Given the description of an element on the screen output the (x, y) to click on. 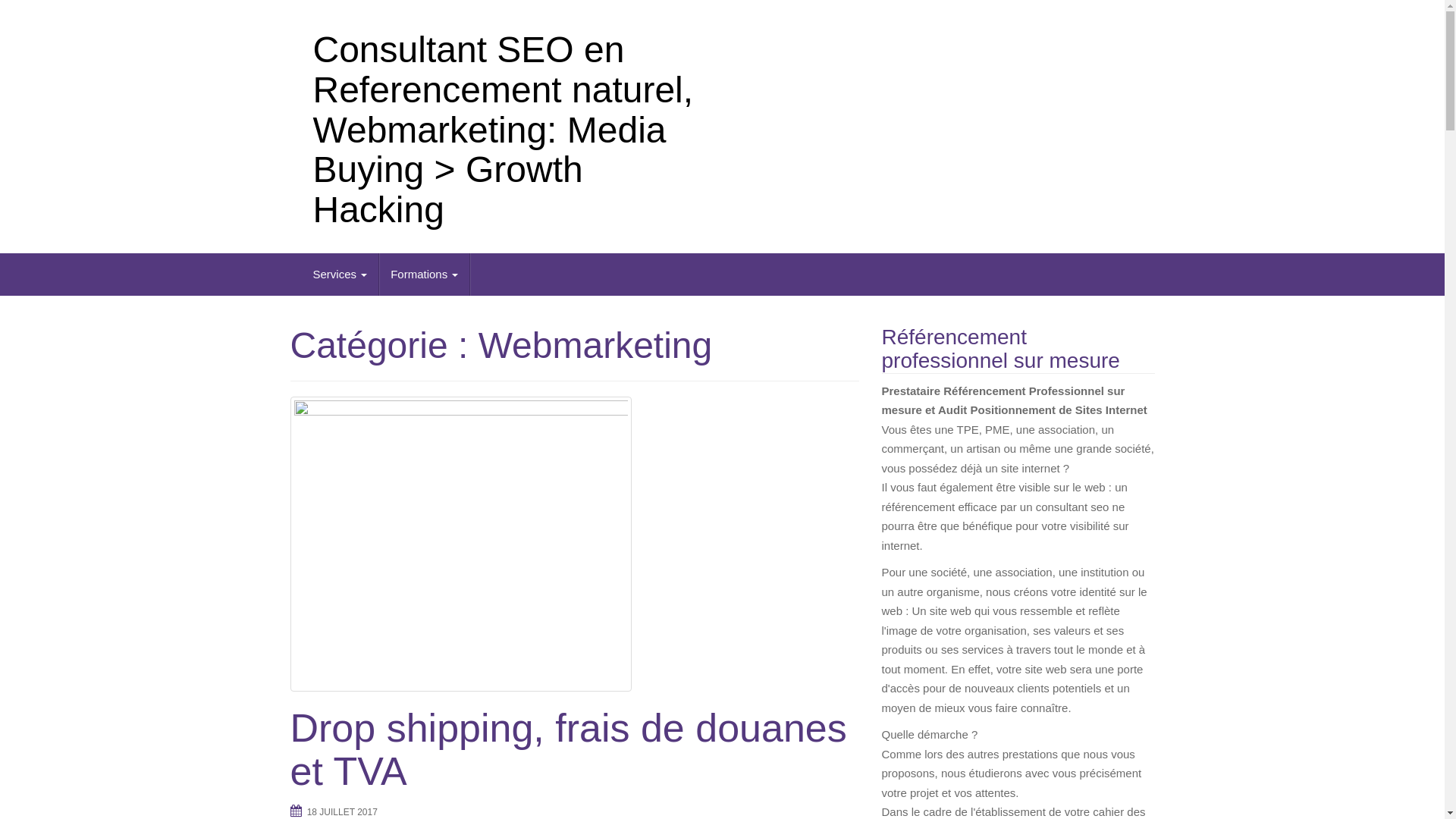
Formations Element type: text (424, 274)
Drop shipping, frais de douanes et TVA Element type: text (567, 749)
Drop shipping, frais de douanes et TVA Element type: hover (573, 543)
18 JUILLET 2017 Element type: text (342, 811)
Services Element type: text (340, 274)
